Given the description of an element on the screen output the (x, y) to click on. 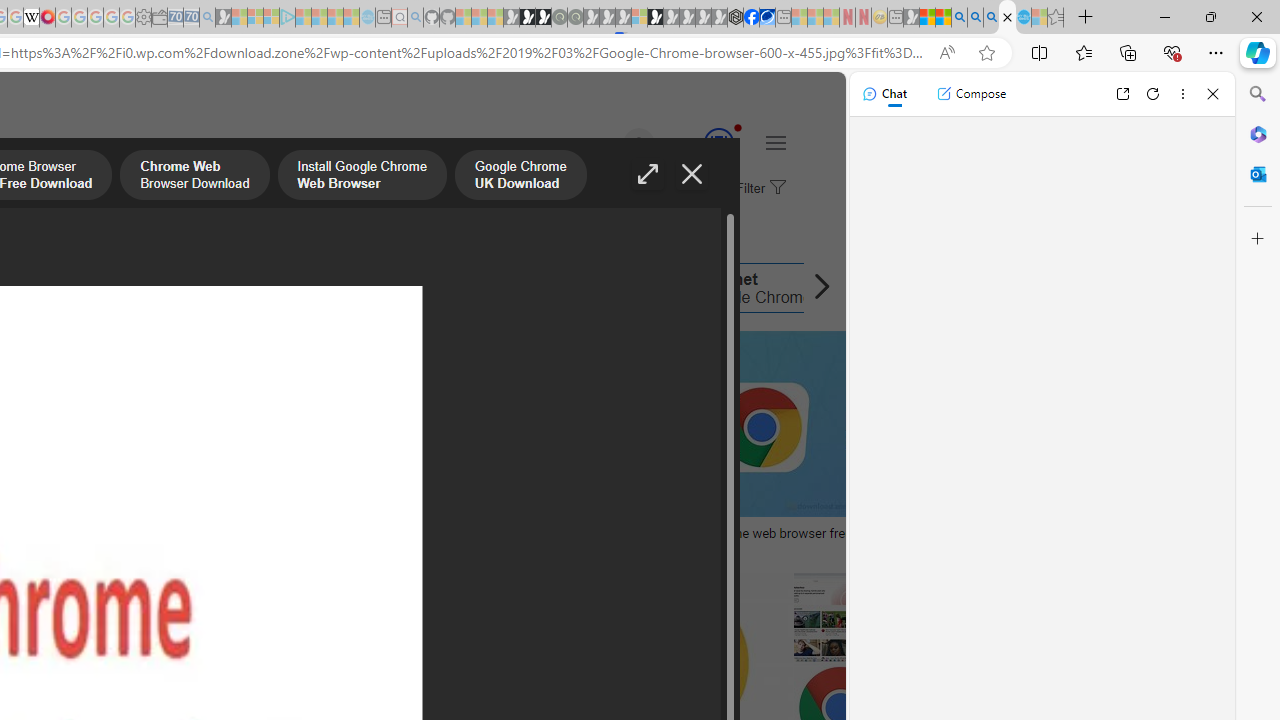
wizardsgase - Blog (174, 533)
Nordace | Facebook (751, 17)
